Given the description of an element on the screen output the (x, y) to click on. 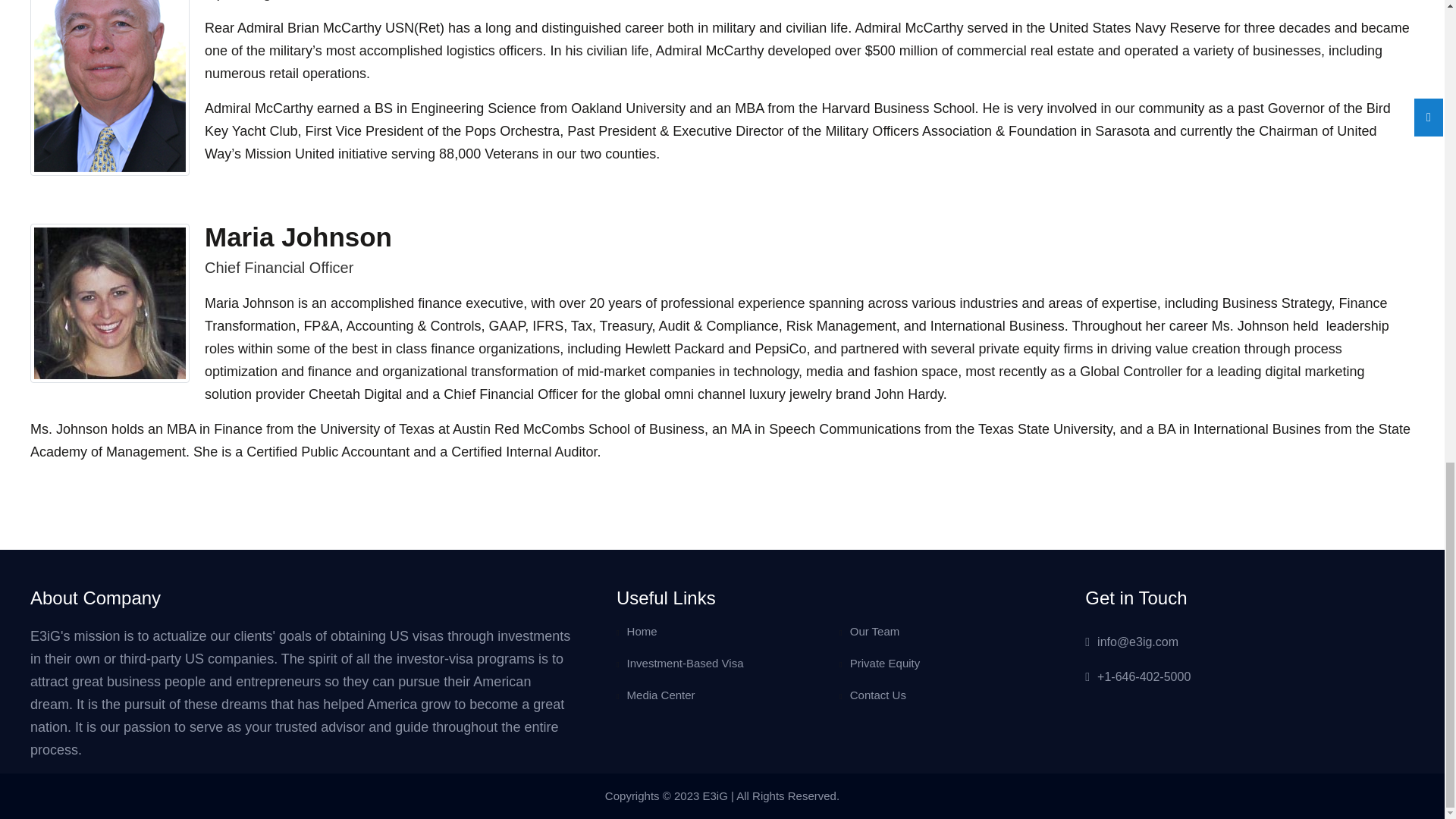
Our Team (874, 631)
Media Center (661, 694)
Investment-Based Visa (685, 662)
Home (642, 631)
Contact Us (877, 694)
Private Equity (885, 662)
